Given the description of an element on the screen output the (x, y) to click on. 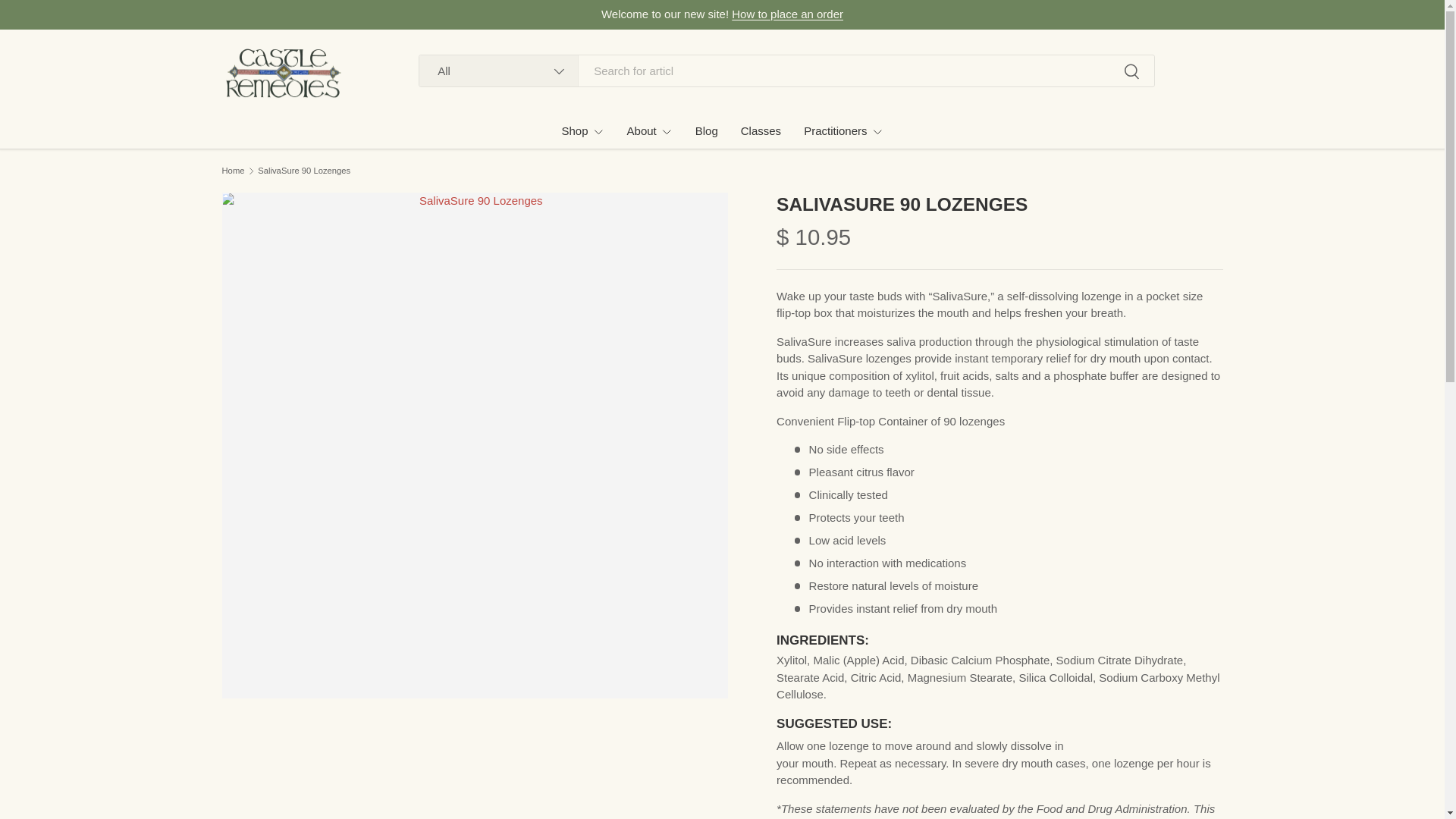
Shop (582, 131)
How to place an order (787, 13)
Search (1130, 72)
All (498, 70)
Skip to content (64, 21)
